Given the description of an element on the screen output the (x, y) to click on. 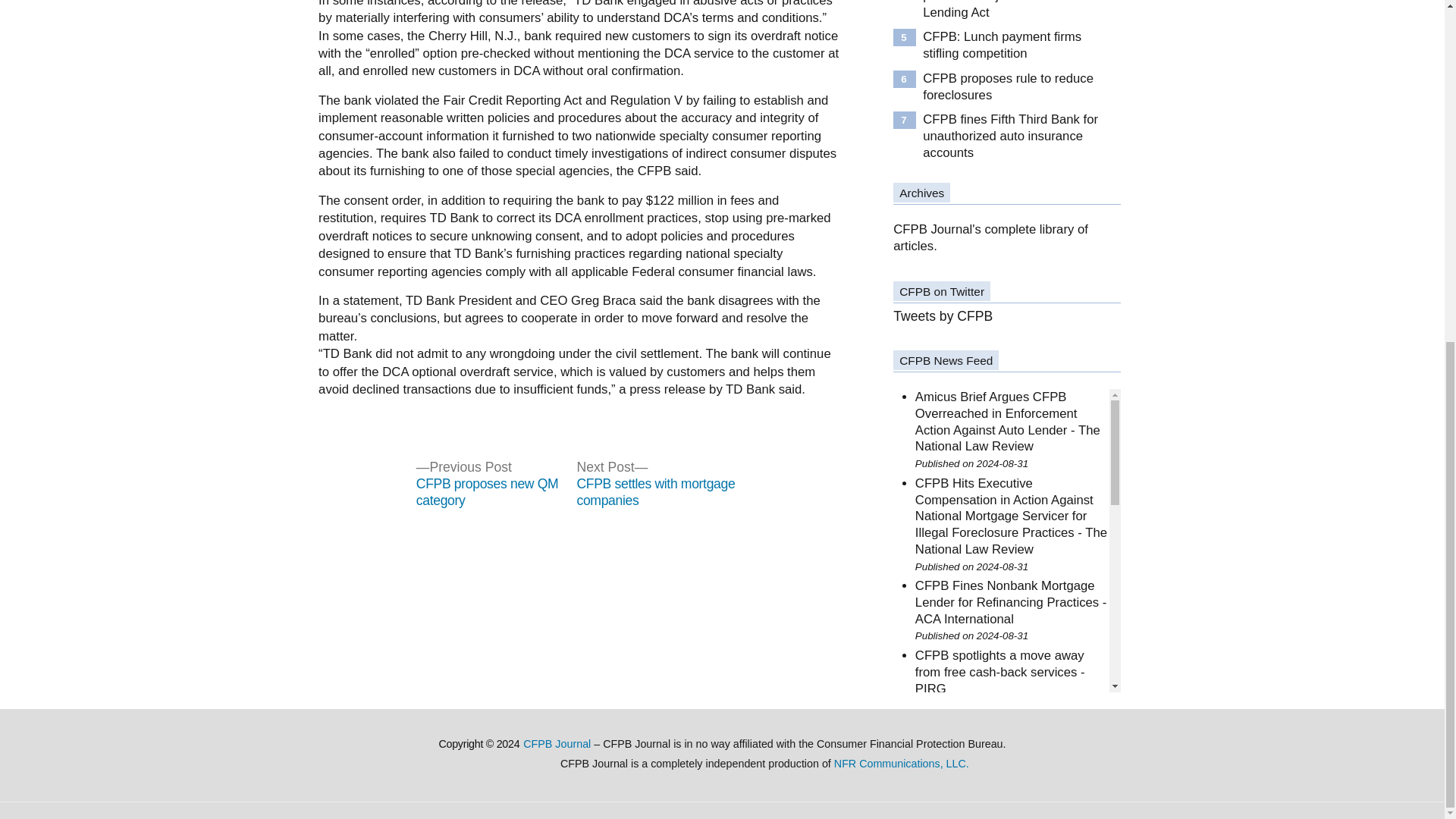
CFPB: Lunch payment firms stifling competition (1014, 44)
Article Archives (990, 237)
Tweets by CFPB (942, 315)
